Given the description of an element on the screen output the (x, y) to click on. 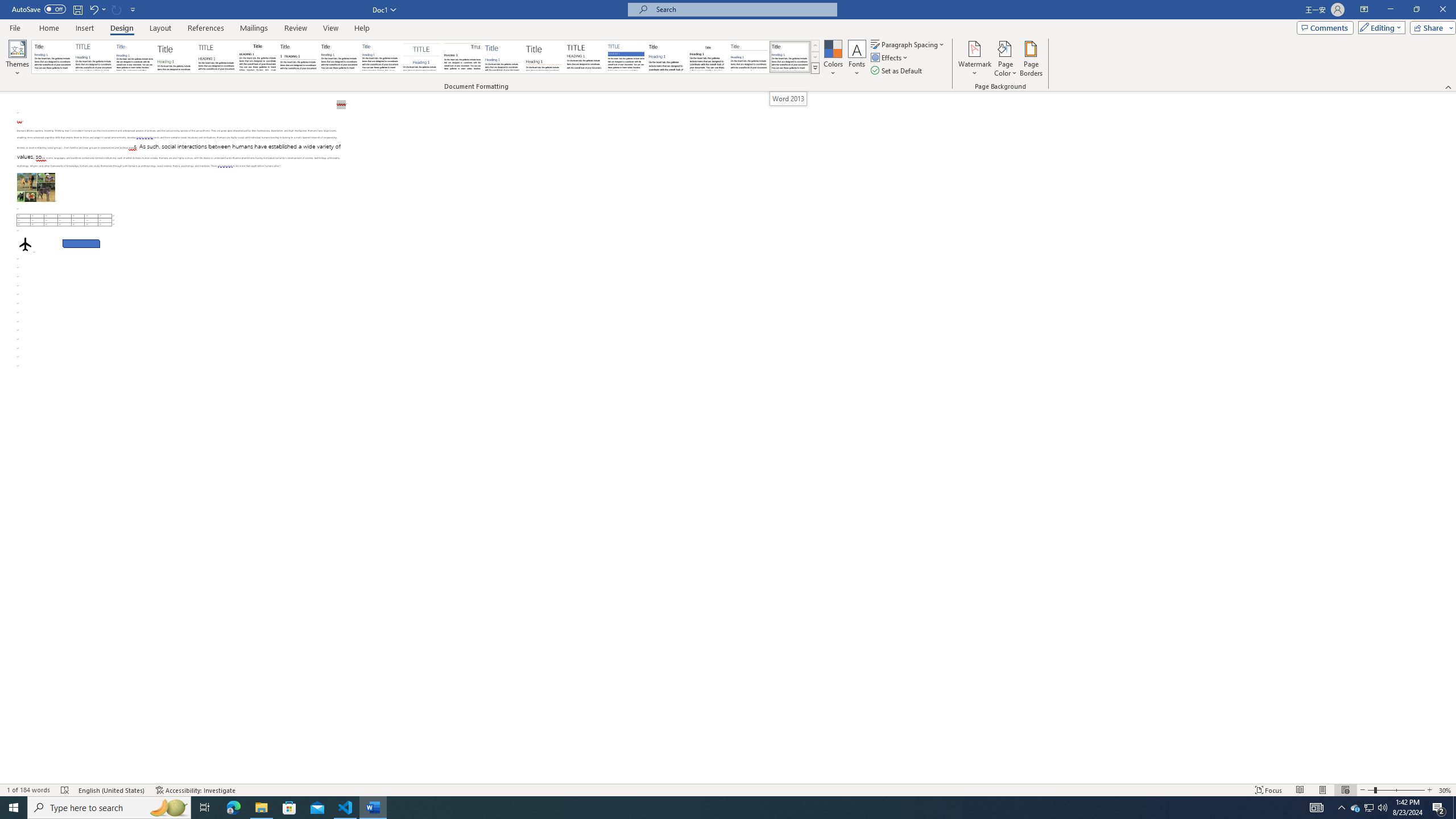
Centered (421, 56)
Undo Apply Quick Style Set (96, 9)
Zoom (1396, 790)
Morphological variation in six dogs (36, 187)
Editing (1379, 27)
Word 2013 (788, 98)
Row Down (814, 56)
Word (666, 56)
Page Color (1005, 58)
